Given the description of an element on the screen output the (x, y) to click on. 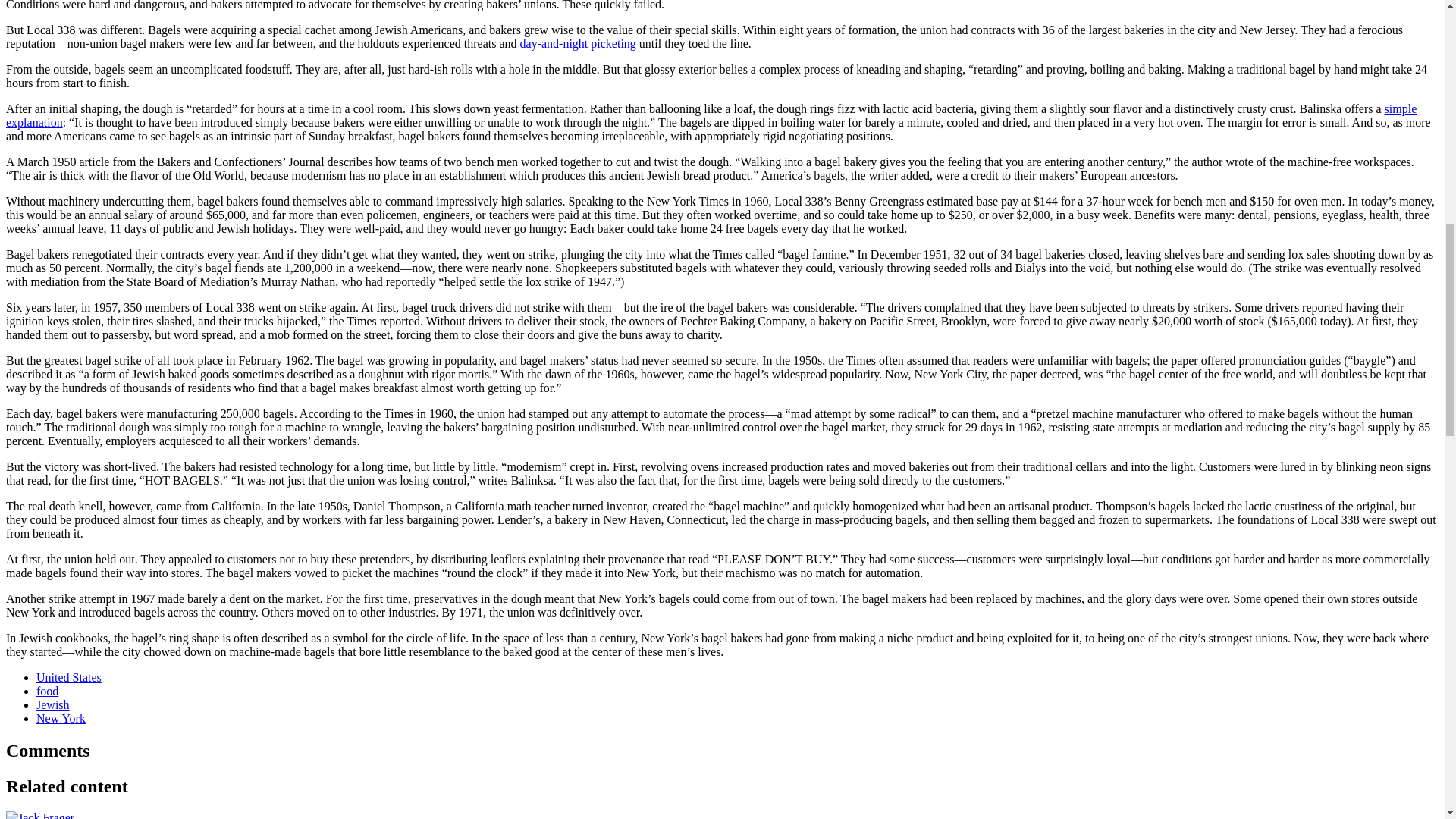
day-and-night picketing (577, 42)
New York (60, 717)
Jack Frager (39, 815)
Jewish (52, 704)
food (47, 690)
United States (68, 676)
simple explanation (710, 115)
